Given the description of an element on the screen output the (x, y) to click on. 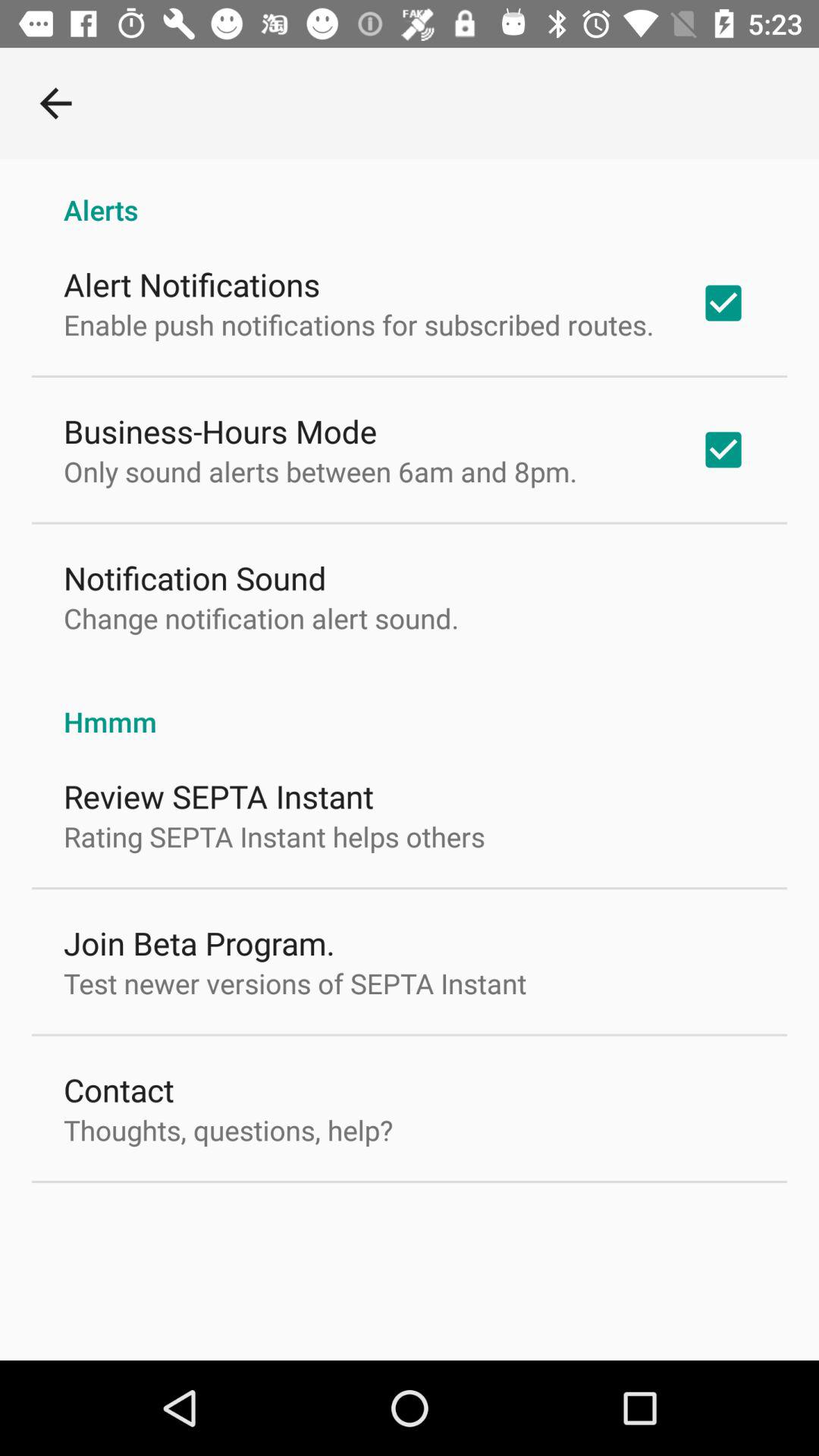
launch the only sound alerts icon (320, 471)
